Given the description of an element on the screen output the (x, y) to click on. 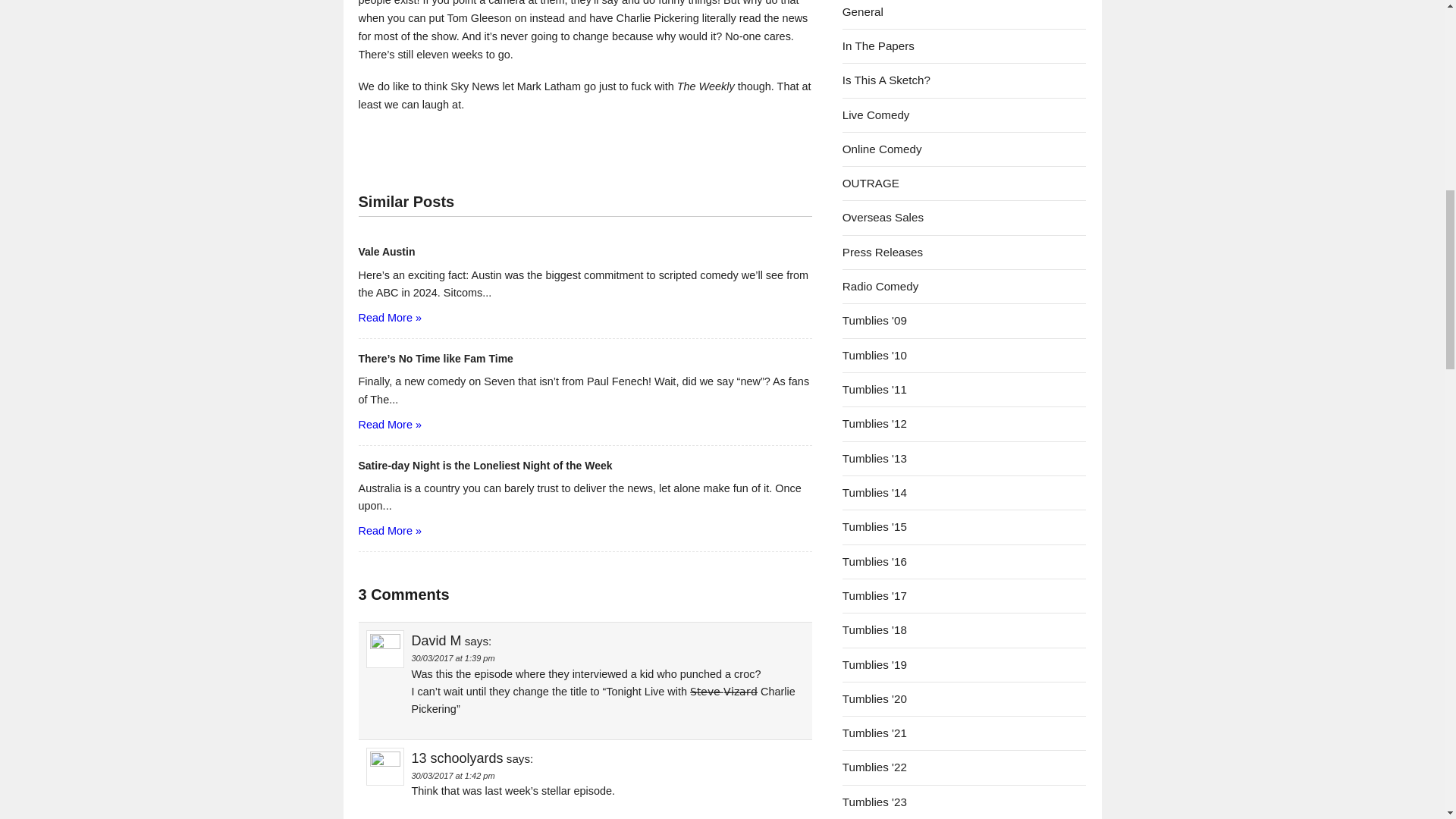
Overseas Sales (883, 216)
Online Comedy (882, 148)
Live Comedy (876, 114)
Is This A Sketch? (886, 79)
OUTRAGE (871, 182)
General (863, 11)
In The Papers (878, 45)
